Given the description of an element on the screen output the (x, y) to click on. 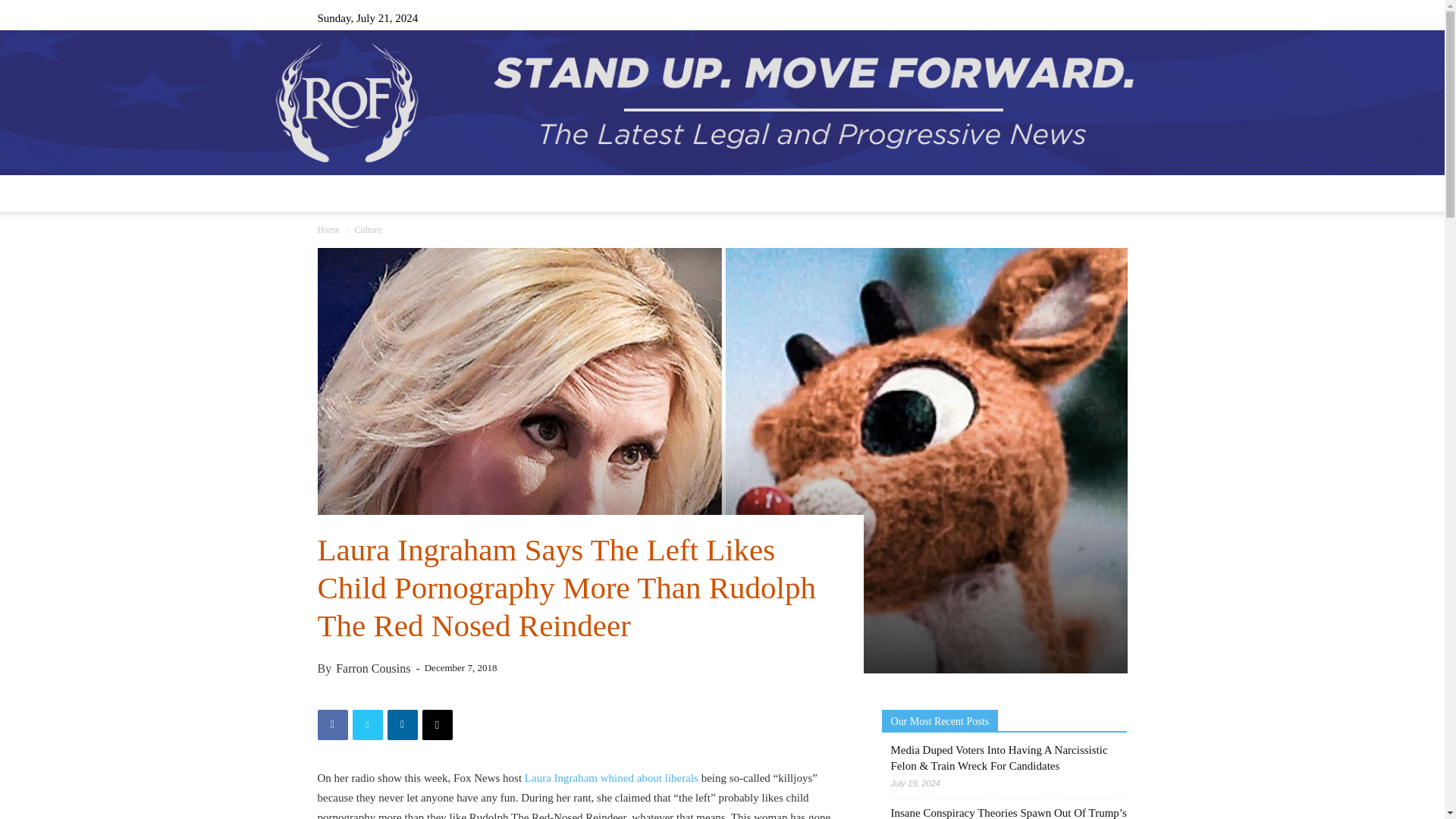
Instagram (1040, 17)
Facebook (1015, 17)
Twitter (1090, 17)
RSS (1065, 17)
Youtube (1114, 17)
